Given the description of an element on the screen output the (x, y) to click on. 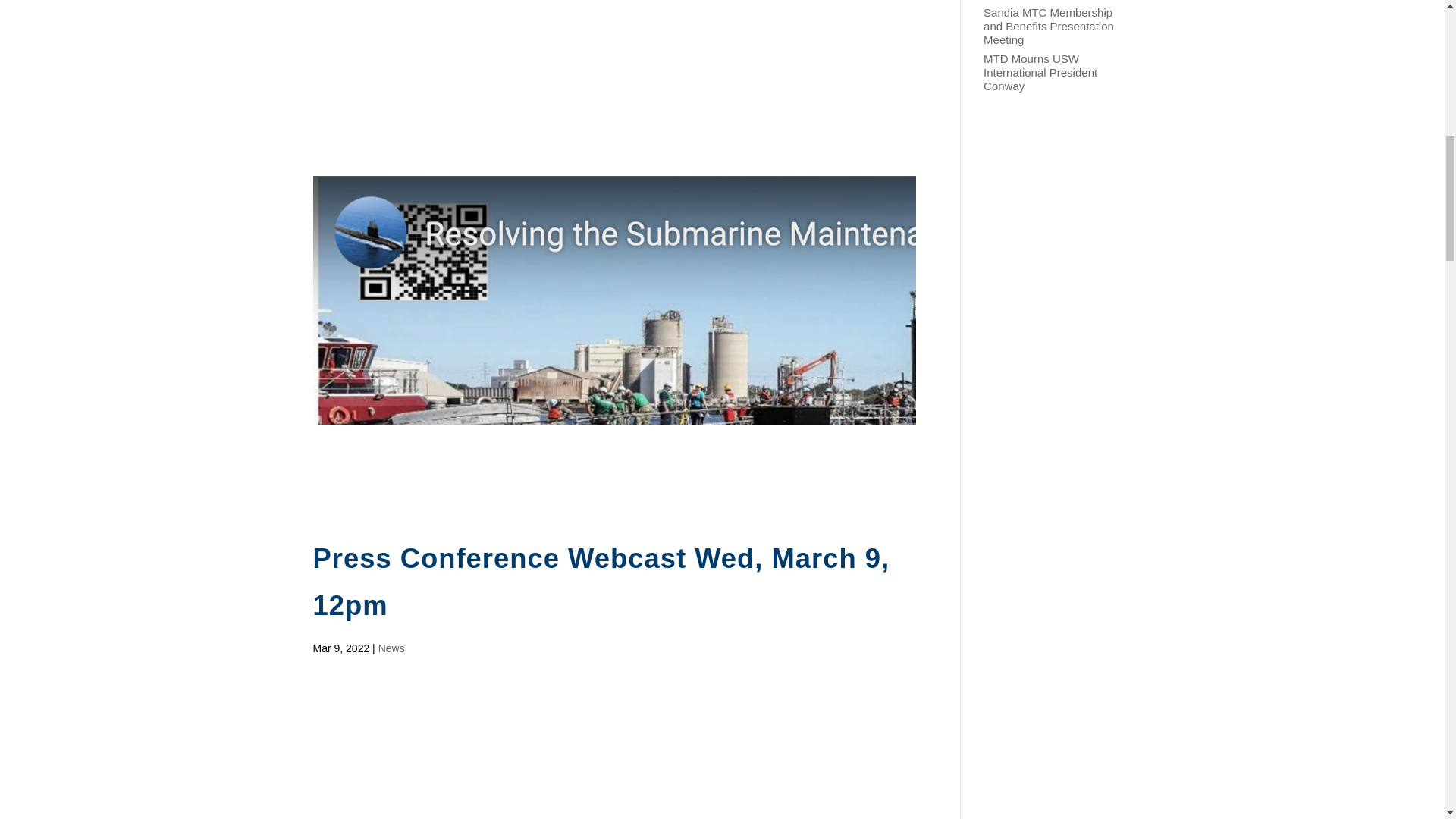
YouTube video player (524, 748)
Press Conference Webcast Wed, March 9, 12pm (601, 581)
YouTube video player (524, 63)
